Given the description of an element on the screen output the (x, y) to click on. 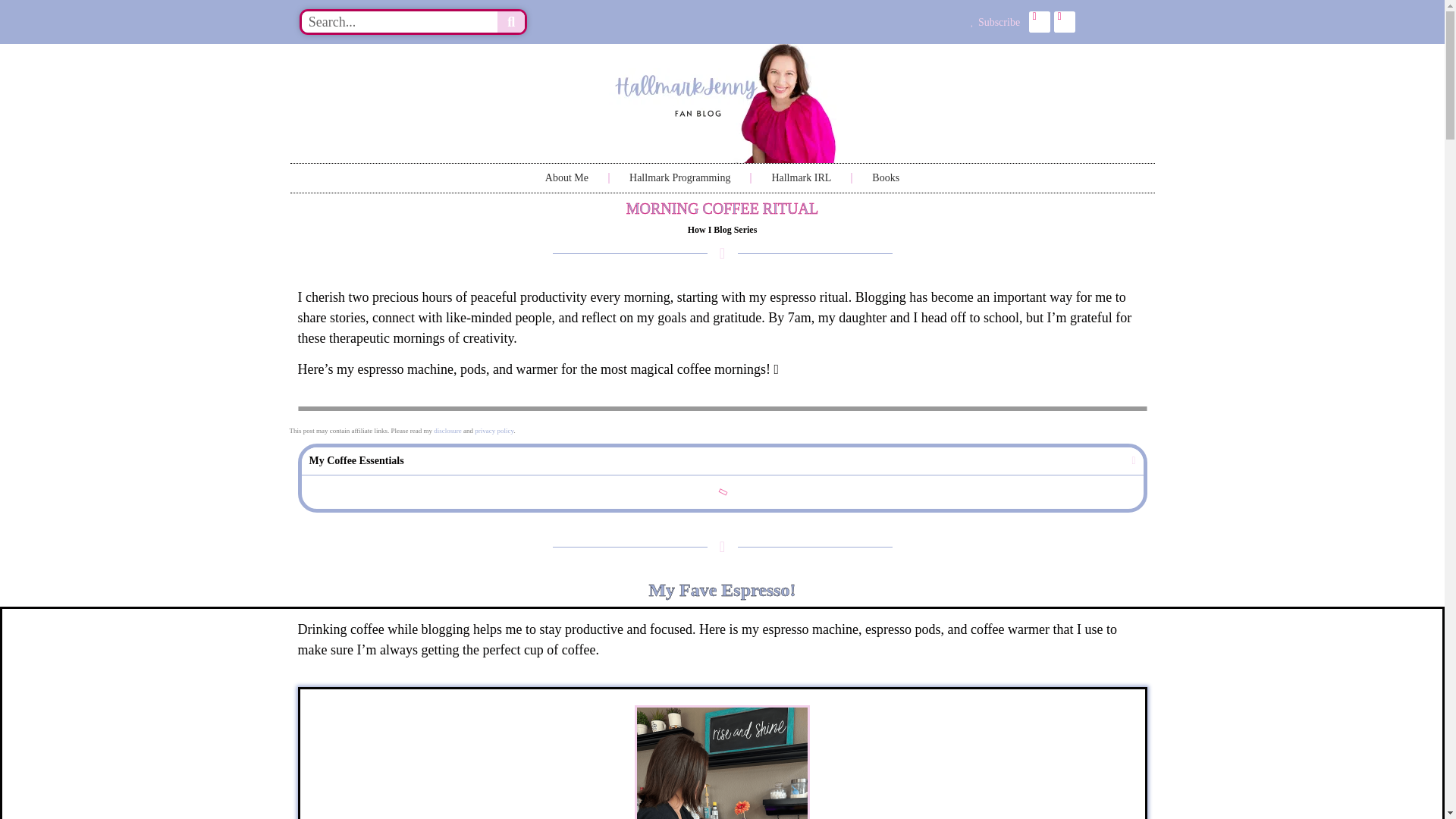
Hallmark Programming (679, 177)
Books (884, 177)
Hallmark IRL (800, 177)
About Me (566, 177)
Subscribe (781, 21)
